Given the description of an element on the screen output the (x, y) to click on. 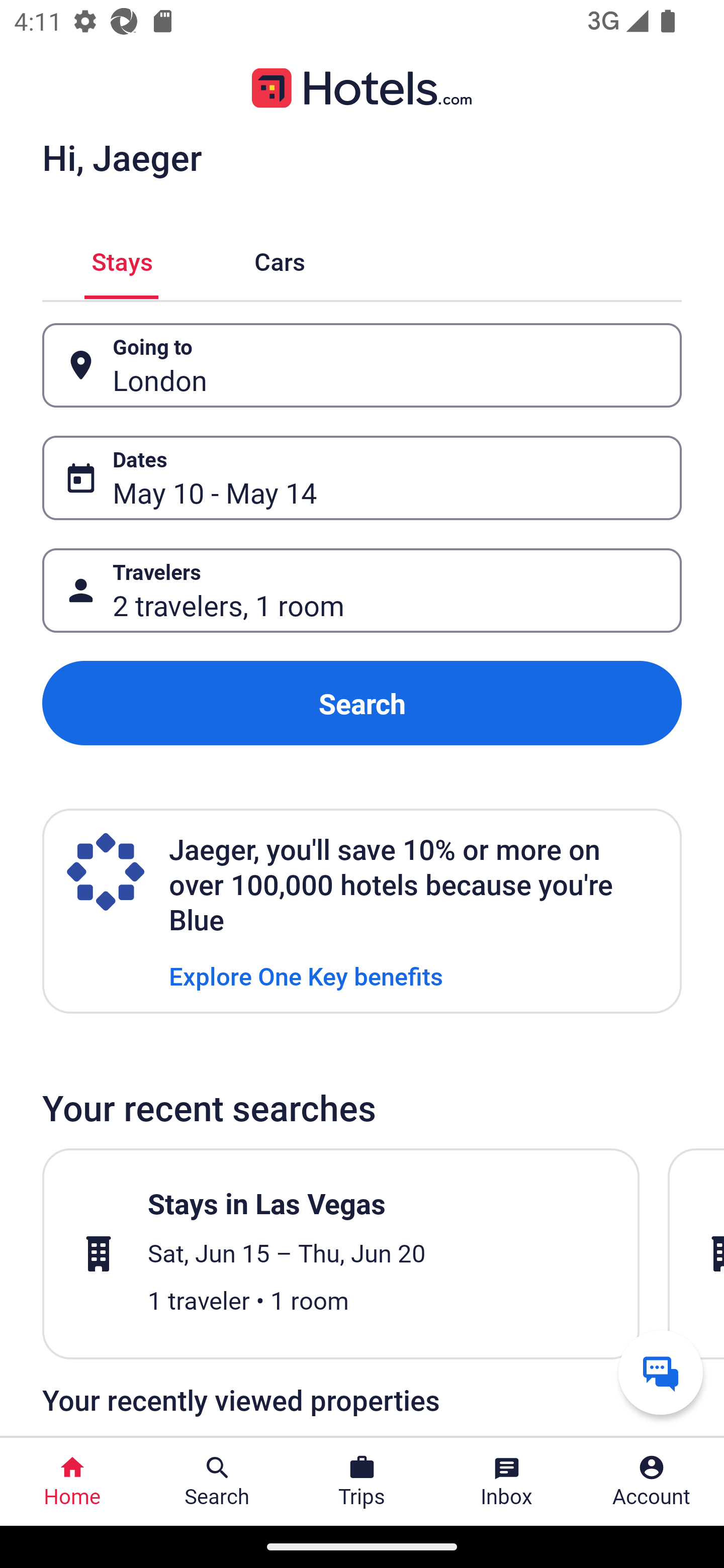
Hi, Jaeger (121, 156)
Cars (279, 259)
Going to Button London (361, 365)
Dates Button May 10 - May 14 (361, 477)
Travelers Button 2 travelers, 1 room (361, 590)
Search (361, 702)
Get help from a virtual agent (660, 1371)
Search Search Button (216, 1481)
Trips Trips Button (361, 1481)
Inbox Inbox Button (506, 1481)
Account Profile. Button (651, 1481)
